Given the description of an element on the screen output the (x, y) to click on. 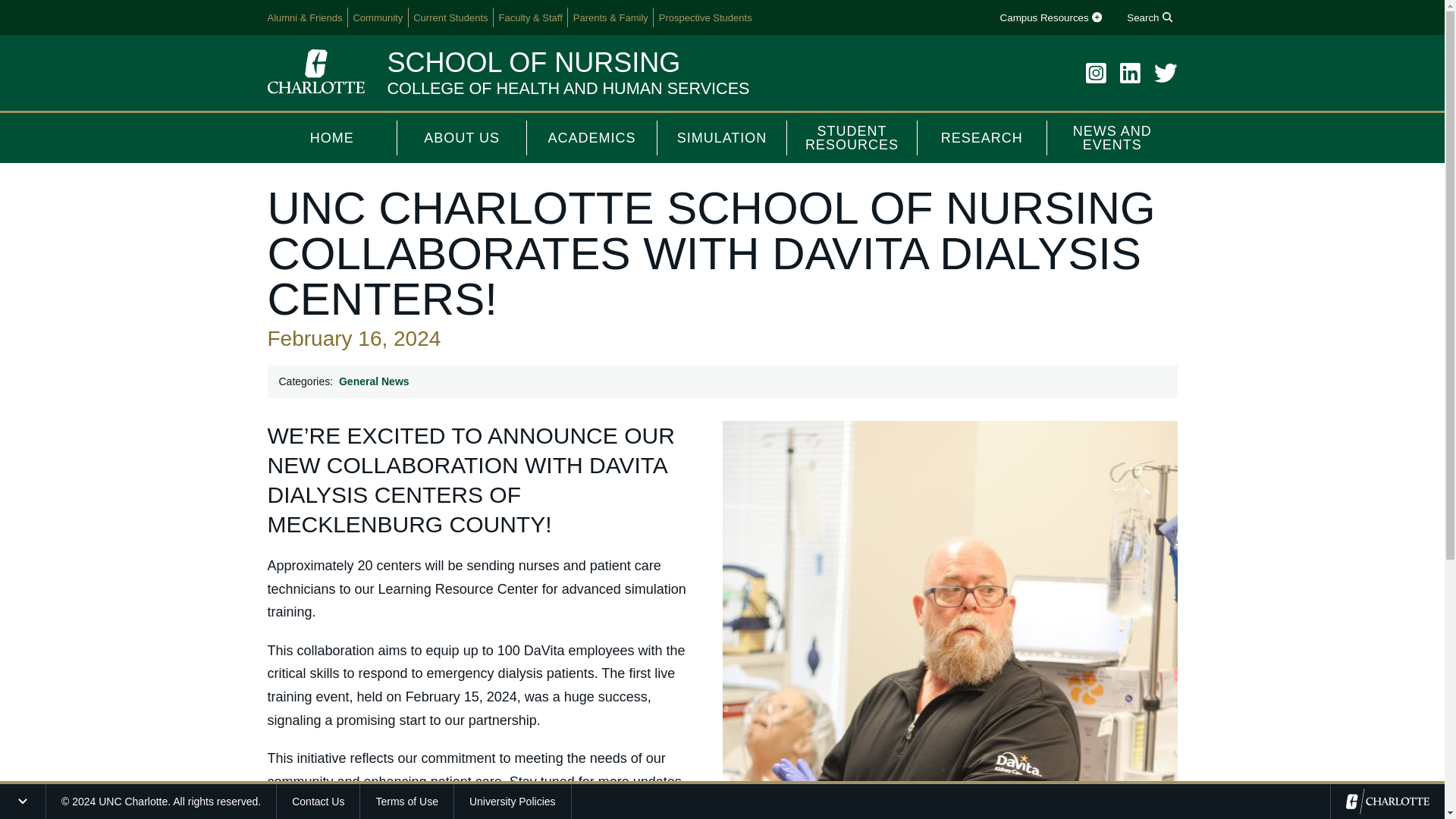
HOME (331, 137)
SCHOOL OF NURSING (533, 61)
Community (378, 17)
Current Students (451, 17)
Search (1149, 16)
Prospective Students (705, 17)
Campus Resources (1050, 16)
COLLEGE OF HEALTH AND HUMAN SERVICES (568, 87)
